Given the description of an element on the screen output the (x, y) to click on. 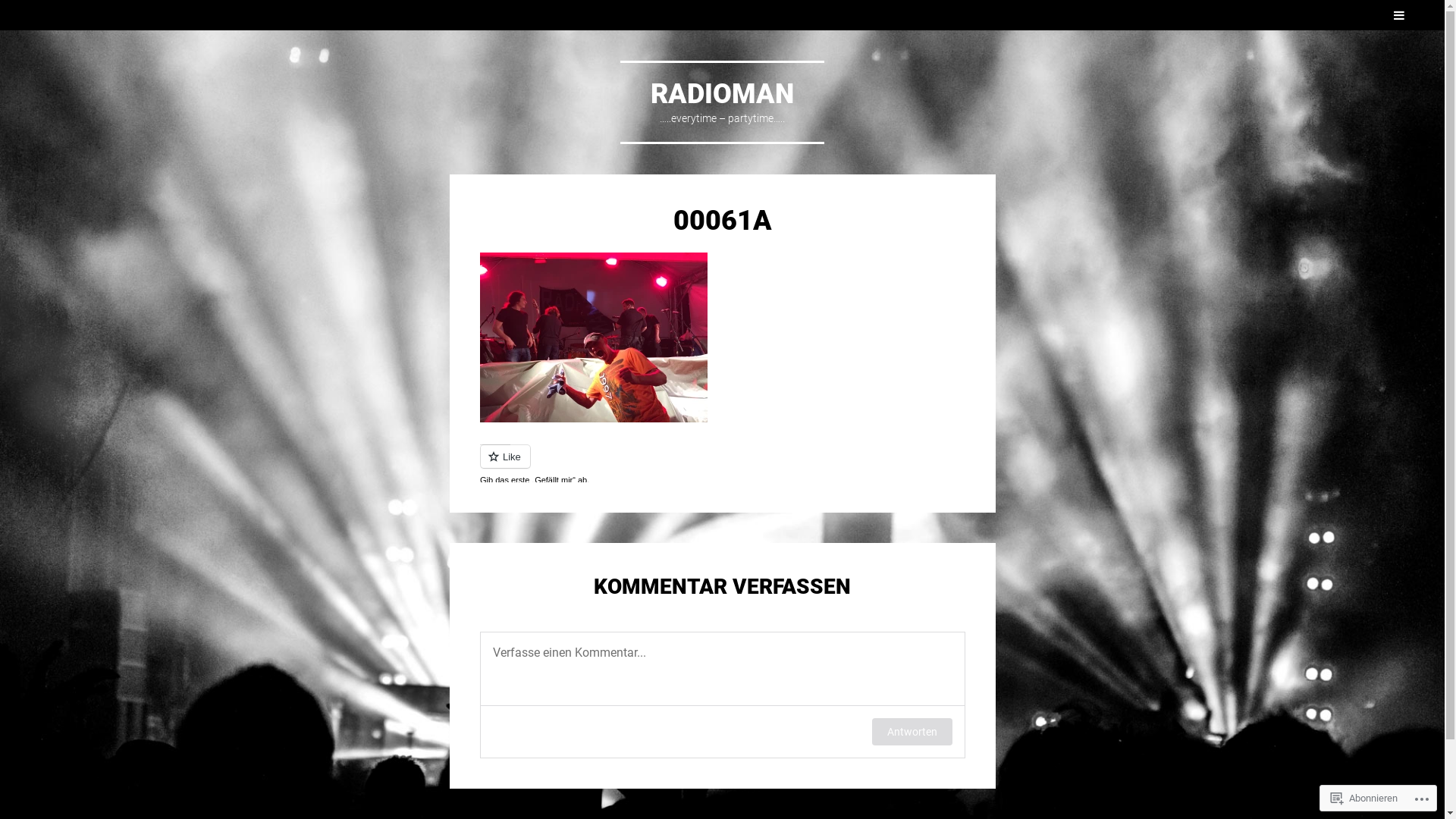
Liken oder rebloggen Element type: hover (721, 463)
Abonnieren Element type: text (1363, 797)
RADIOMAN Element type: text (721, 93)
Antworten Element type: text (912, 731)
